Given the description of an element on the screen output the (x, y) to click on. 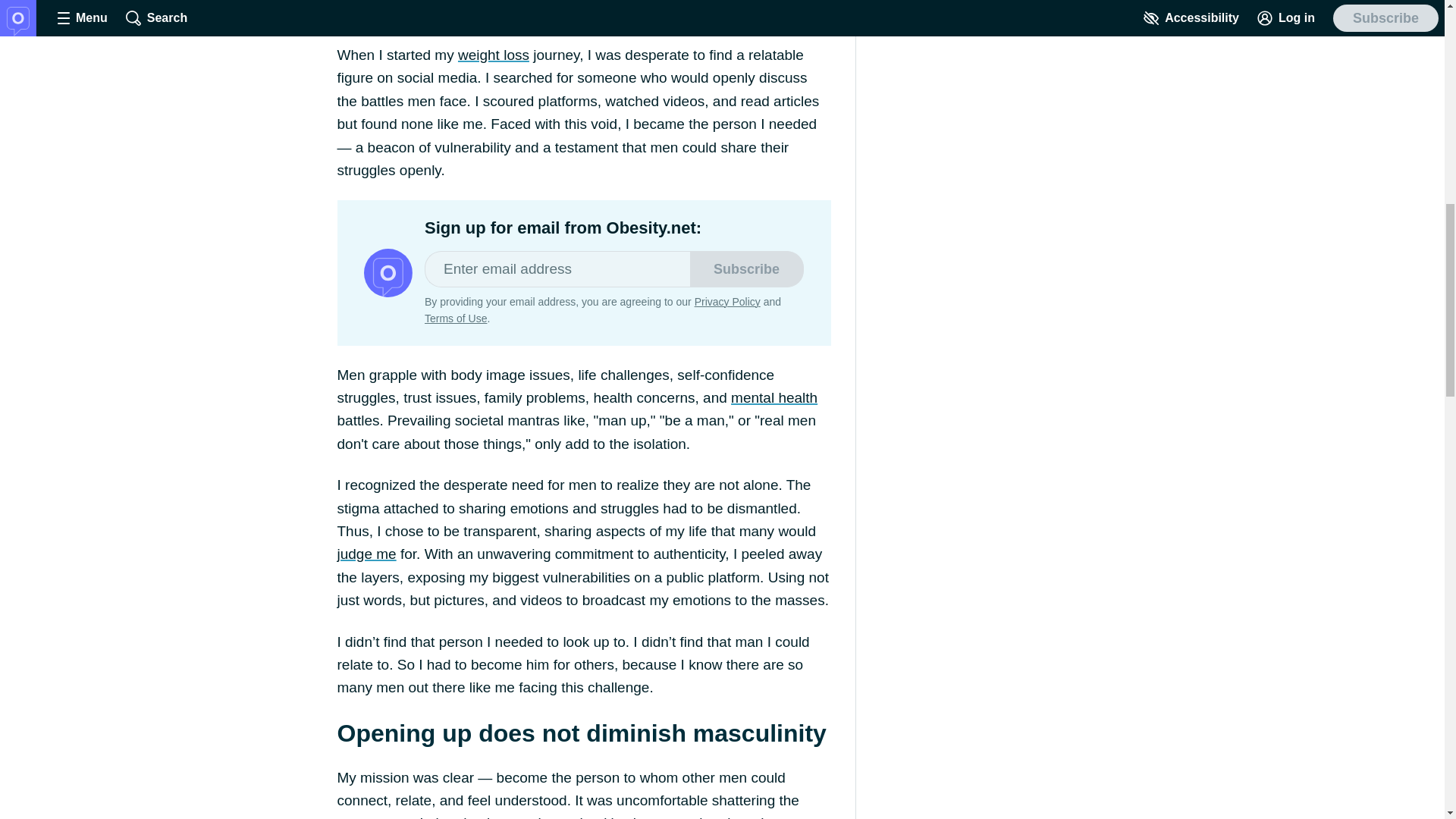
Privacy Policy (727, 301)
Subscribe (746, 268)
Terms of Use (455, 318)
weight loss (493, 54)
mental health (773, 397)
judge me (366, 553)
